Given the description of an element on the screen output the (x, y) to click on. 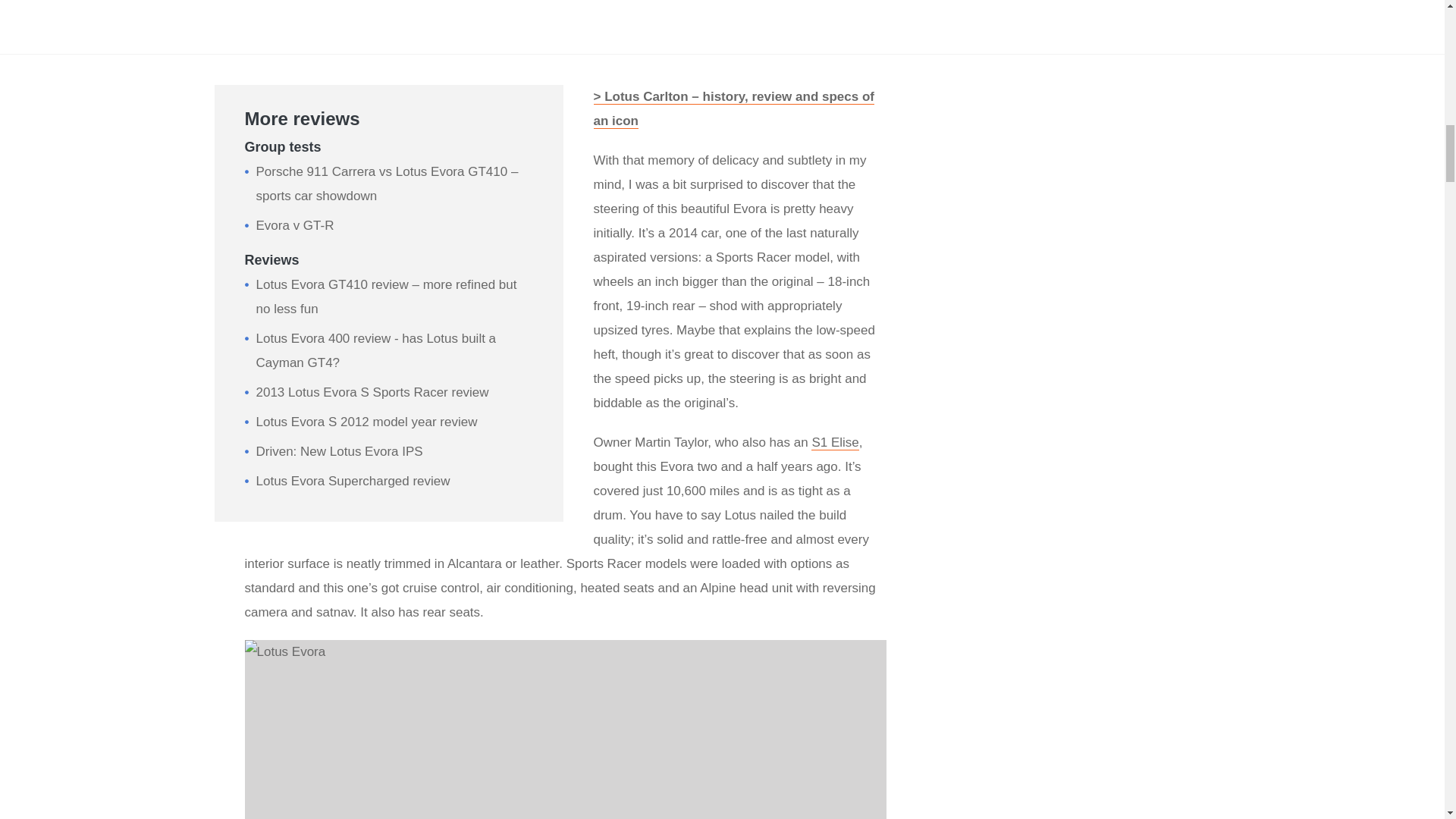
Evora v GT-R (295, 225)
Lotus Evora 400 review - has Lotus built a Cayman GT4? (376, 350)
18 (564, 729)
S1 Elise (834, 442)
Lotus Evora Supercharged review (352, 481)
Lotus Evora S 2012 model year review (366, 421)
2013 Lotus Evora S Sports Racer review (372, 391)
Driven: New Lotus Evora IPS (339, 451)
